Given the description of an element on the screen output the (x, y) to click on. 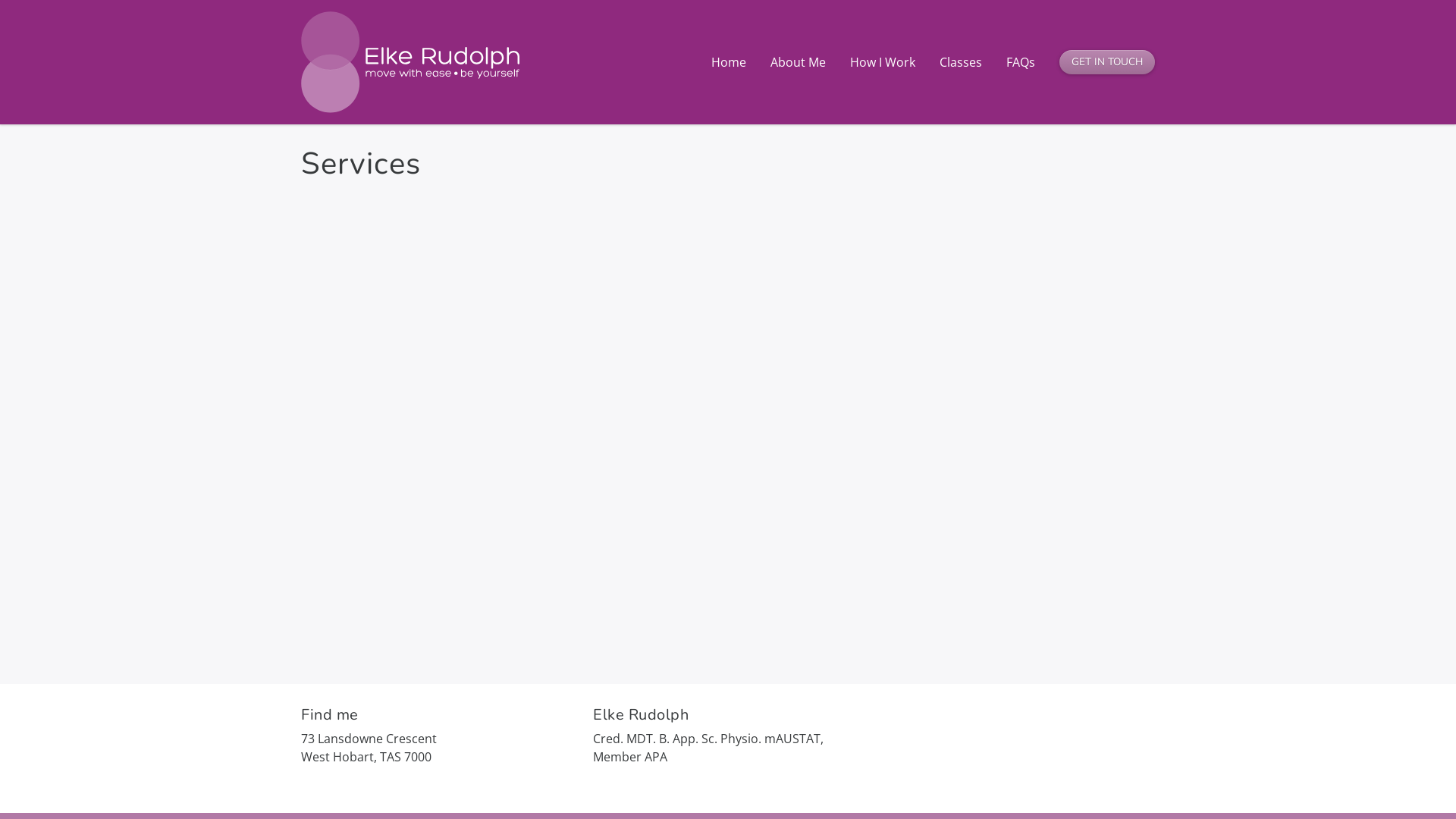
Elke Rudolph Element type: text (410, 59)
About Me Element type: text (797, 62)
GET IN TOUCH Element type: text (1106, 62)
Home Element type: text (728, 62)
How I Work Element type: text (882, 62)
FAQs Element type: text (1020, 62)
Classes Element type: text (960, 62)
